Given the description of an element on the screen output the (x, y) to click on. 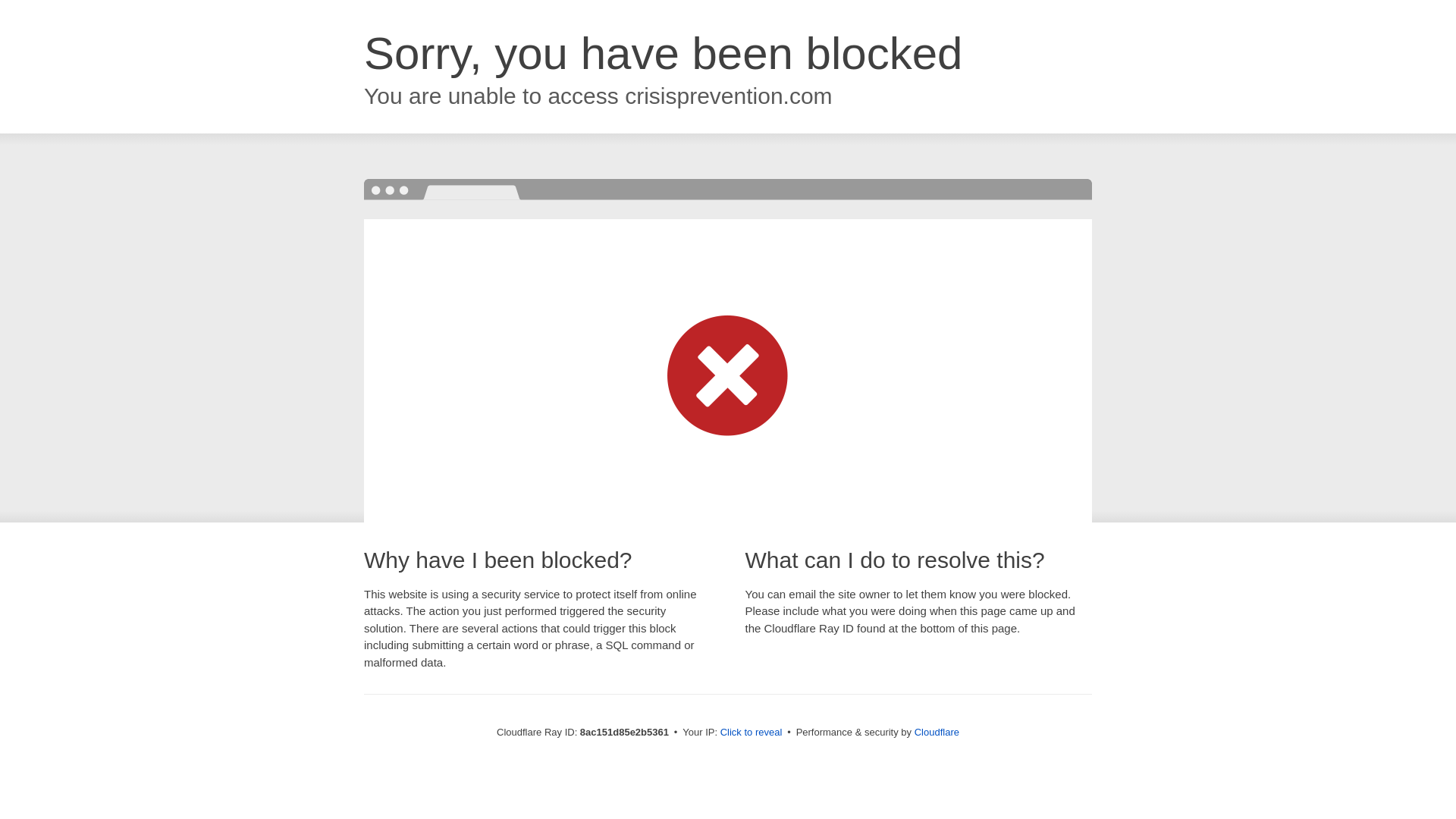
Click to reveal (751, 732)
Cloudflare (936, 731)
